Given the description of an element on the screen output the (x, y) to click on. 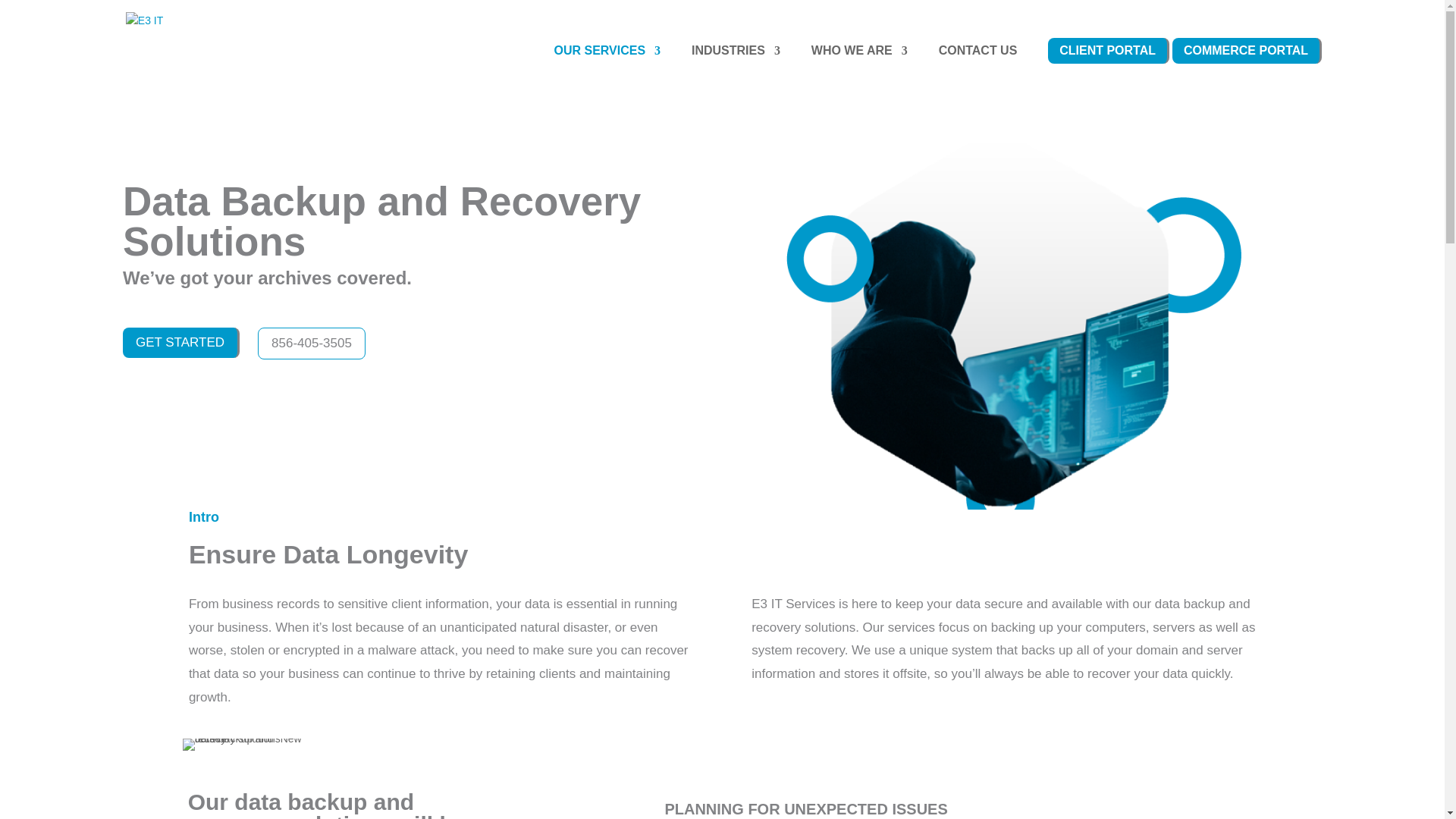
WHO WE ARE (853, 65)
INDUSTRIES (729, 65)
Group 117 (243, 744)
GET STARTED (181, 342)
COMMERCE PORTAL (1245, 65)
OUR SERVICES (601, 65)
856-405-3505 (311, 342)
CLIENT PORTAL (1107, 65)
CONTACT US (978, 65)
